Given the description of an element on the screen output the (x, y) to click on. 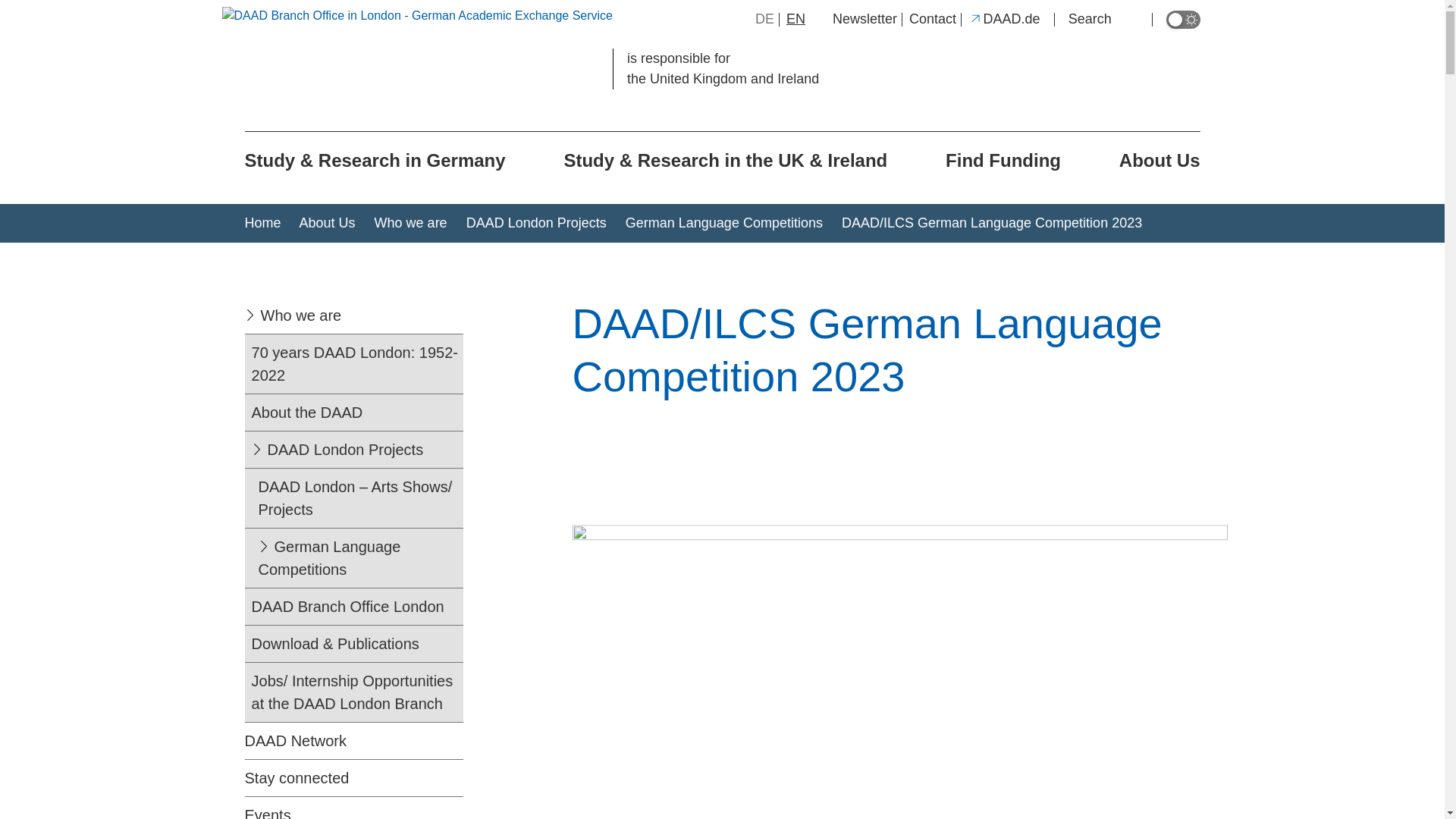
Newsletter (864, 19)
External link to www.daad.de, opens in a new window. (1004, 19)
Contact (932, 19)
About Us (1159, 160)
Newsletter (864, 19)
DAAD.de (1004, 19)
Contact (932, 19)
Find Funding (1002, 160)
Search (1103, 19)
